Given the description of an element on the screen output the (x, y) to click on. 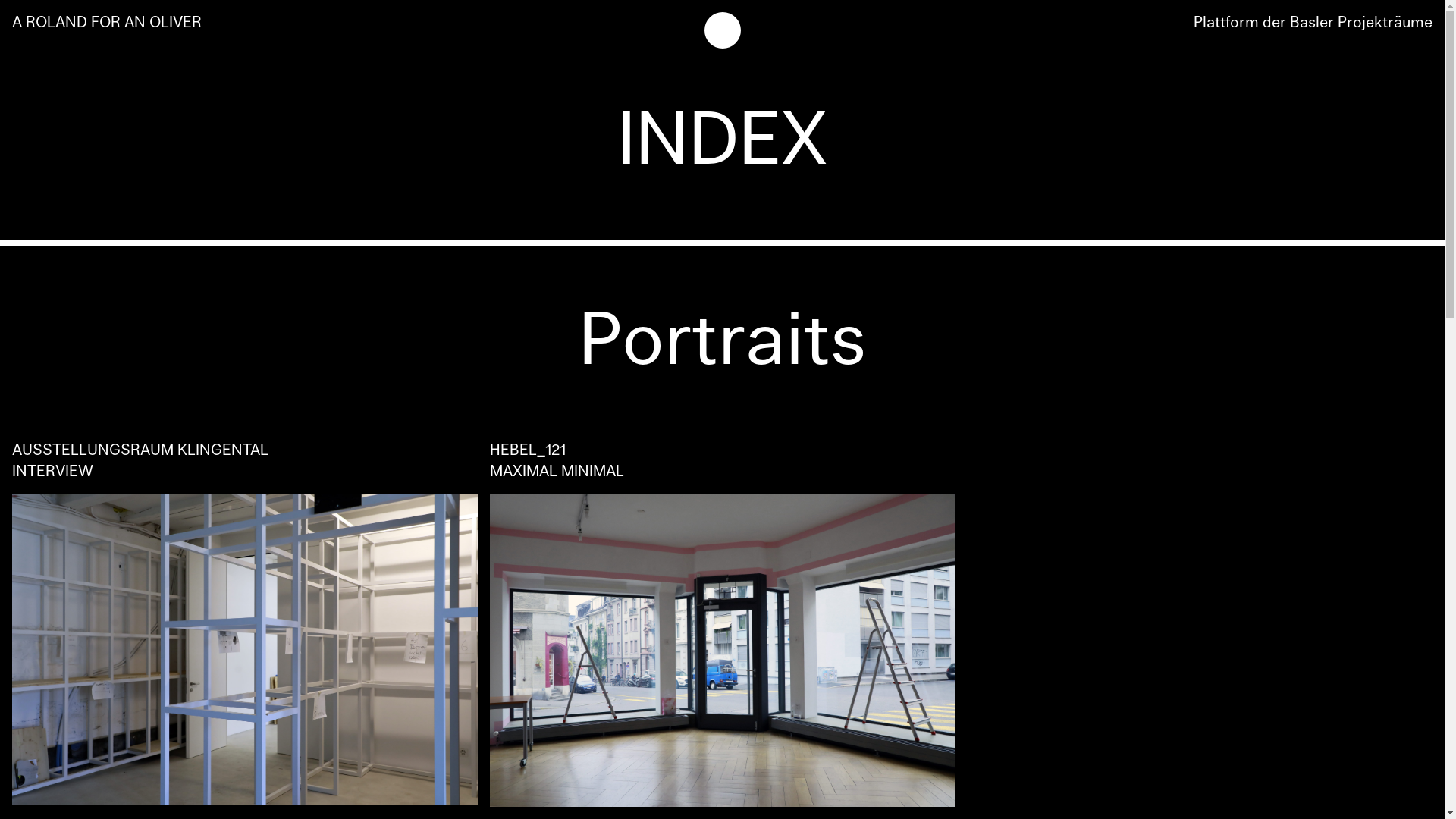
HEBEL_121
MAXIMAL MINIMAL Element type: text (722, 622)
A ROLAND FOR AN OLIVER Element type: text (106, 22)
AUSSTELLUNGSRAUM KLINGENTAL
INTERVIEW Element type: text (244, 622)
